Given the description of an element on the screen output the (x, y) to click on. 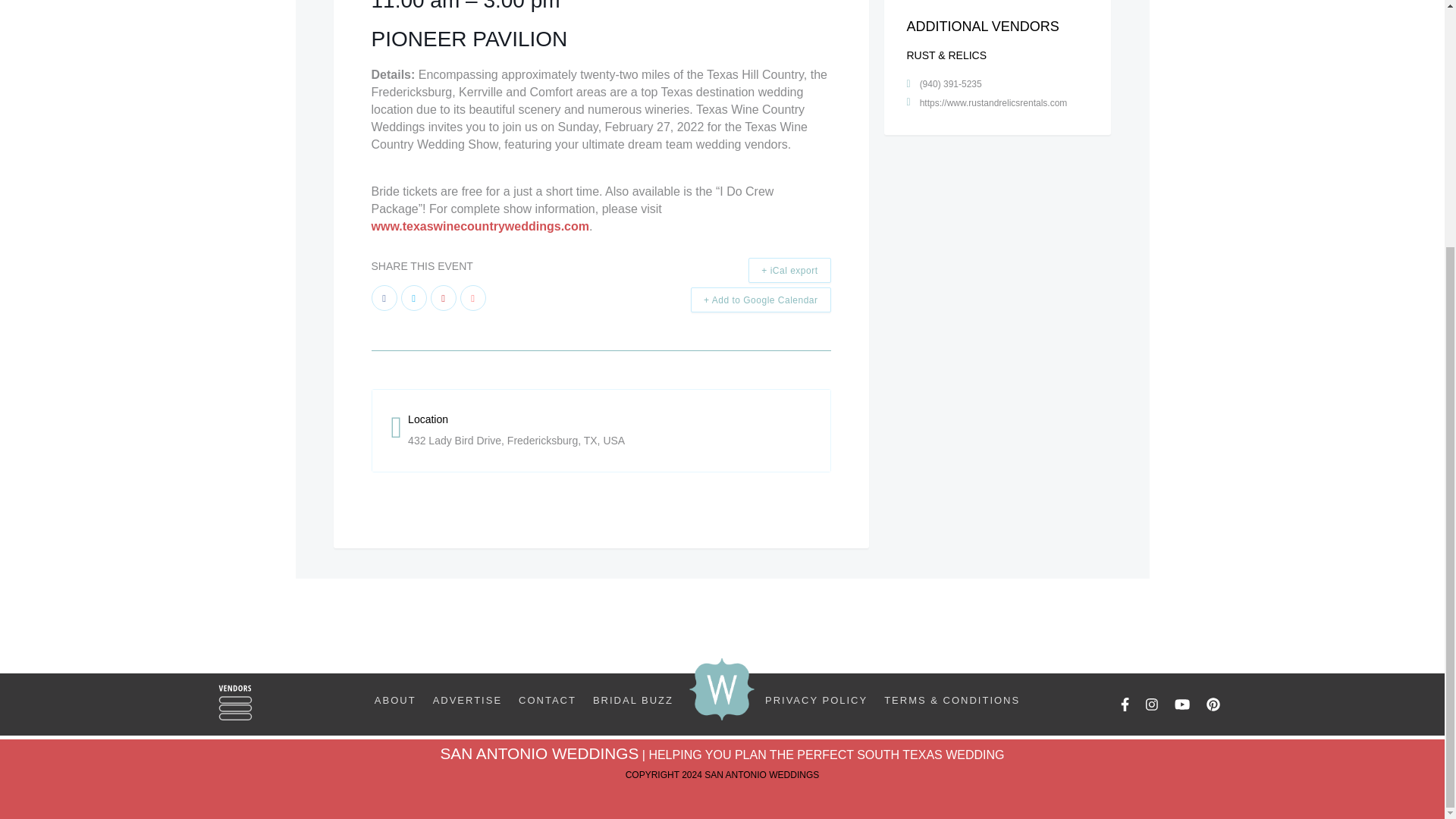
San Antonio Weddings (722, 689)
Share on Pinterest (443, 298)
Email (472, 298)
Share on Facebook (384, 298)
Tweet (413, 298)
